Given the description of an element on the screen output the (x, y) to click on. 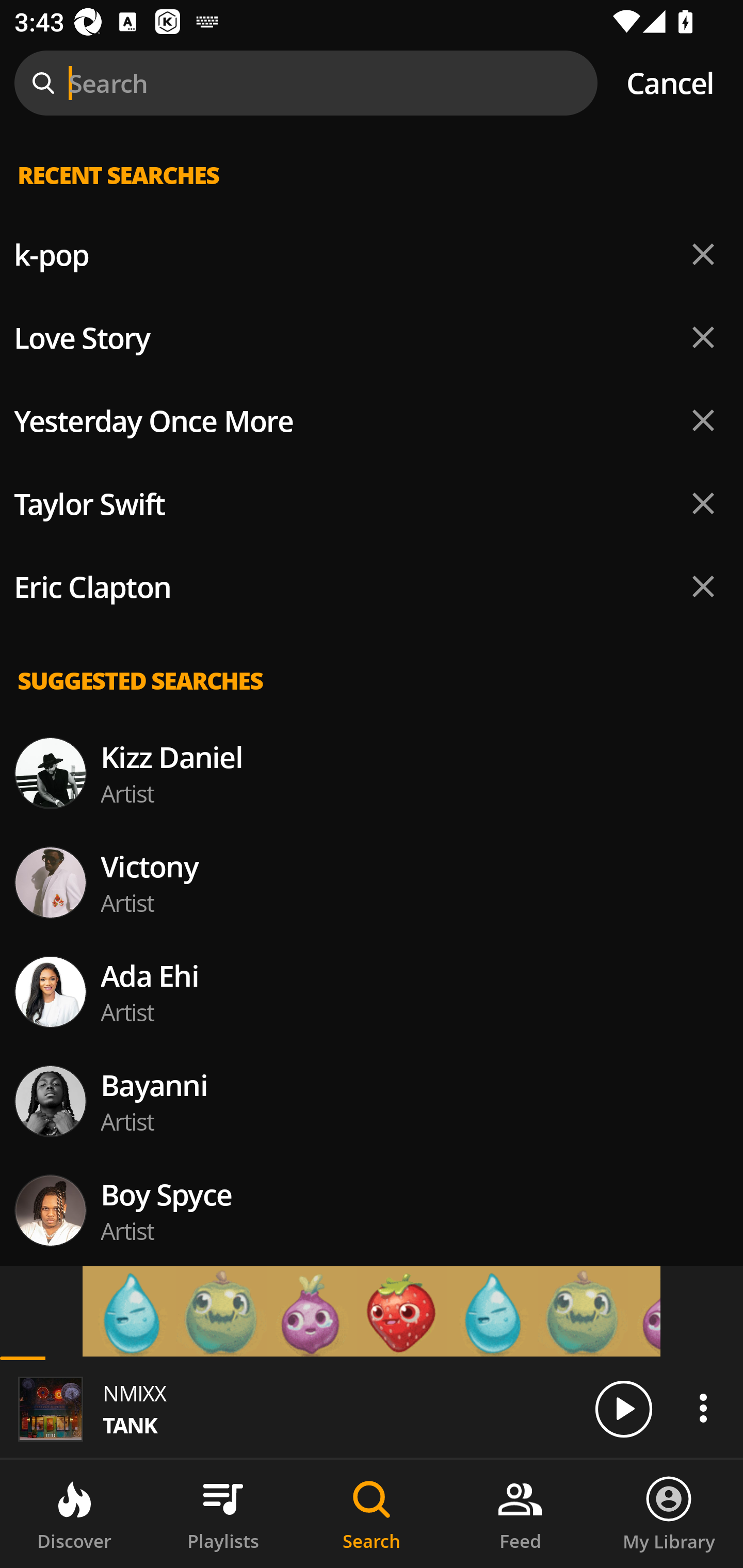
Search Cancel (371, 82)
Cancel (670, 82)
Artists, songs, albums and playlists… (371, 191)
k-pop Delete (371, 254)
Delete (703, 254)
Love Story Delete (371, 337)
Delete (703, 336)
Yesterday Once More Delete (371, 420)
Delete (703, 420)
Taylor Swift Delete (371, 503)
Delete (703, 503)
Eric Clapton Delete (371, 586)
Delete (703, 586)
Kizz Daniel Artist (371, 772)
Victony Artist (371, 882)
Ada Ehi Artist (371, 991)
Bayanni Artist (371, 1100)
Boy Spyce Artist (371, 1210)
Actions (703, 1407)
Play/Pause (623, 1408)
Discover (74, 1513)
Playlists (222, 1513)
Search (371, 1513)
Feed (519, 1513)
My Library (668, 1513)
